Given the description of an element on the screen output the (x, y) to click on. 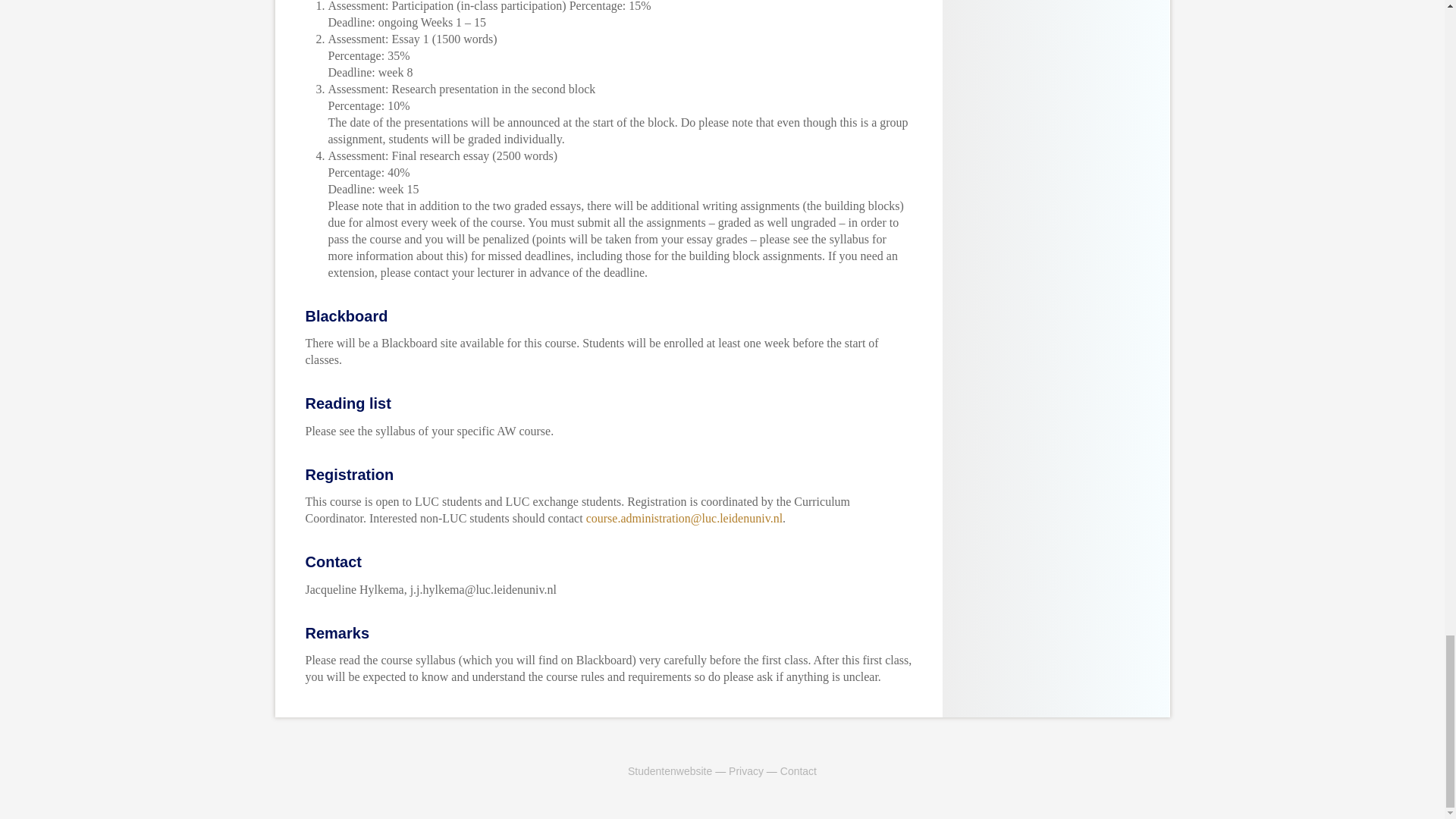
Studentenwebsite (669, 770)
Privacy (745, 770)
Contact (798, 770)
